Given the description of an element on the screen output the (x, y) to click on. 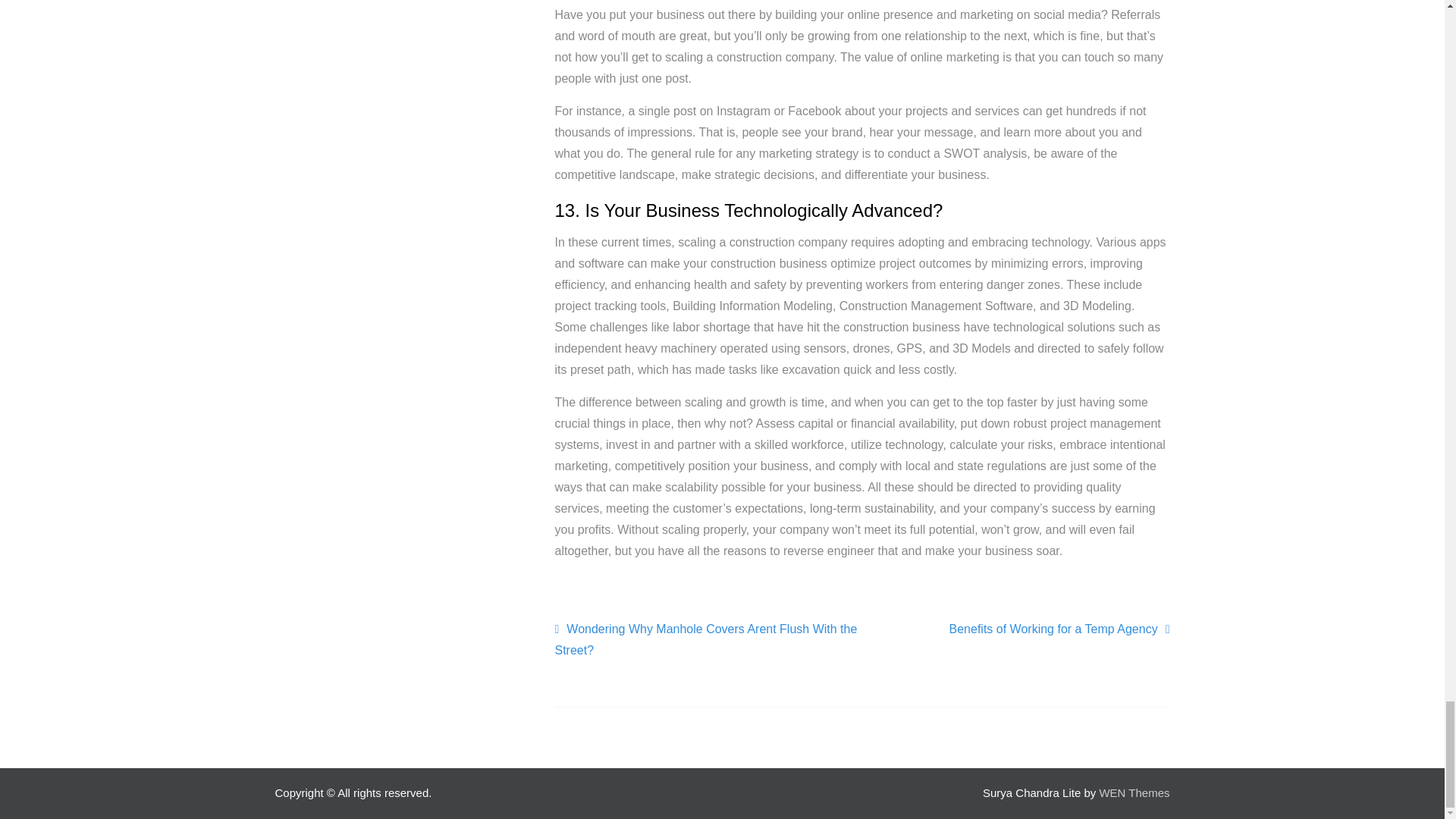
Wondering Why Manhole Covers Arent Flush With the Street? (708, 639)
Benefits of Working for a Temp Agency (1059, 629)
